Given the description of an element on the screen output the (x, y) to click on. 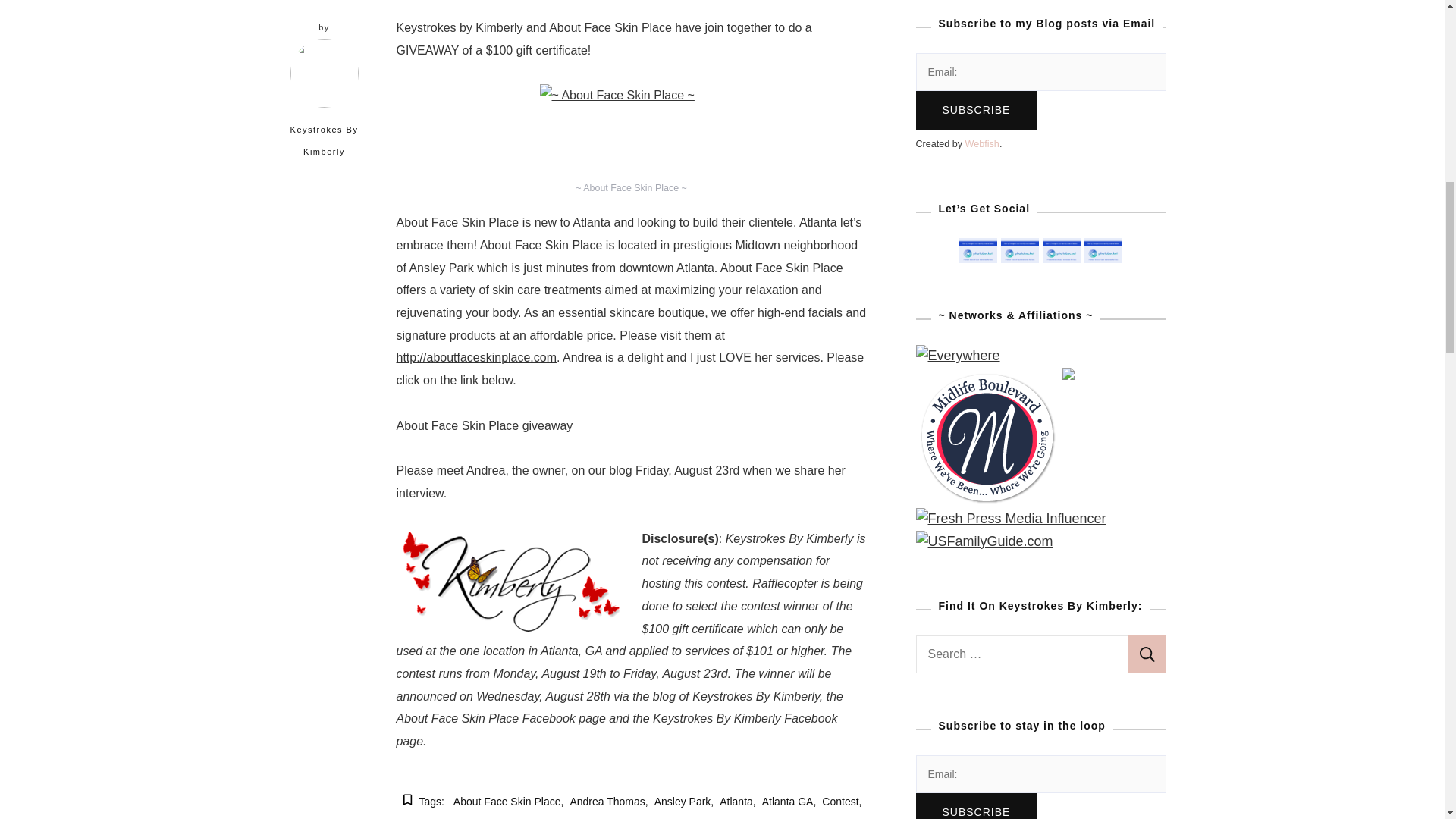
Subscribe (975, 109)
Search (1147, 654)
Subscribe (975, 806)
Search (1147, 654)
